Given the description of an element on the screen output the (x, y) to click on. 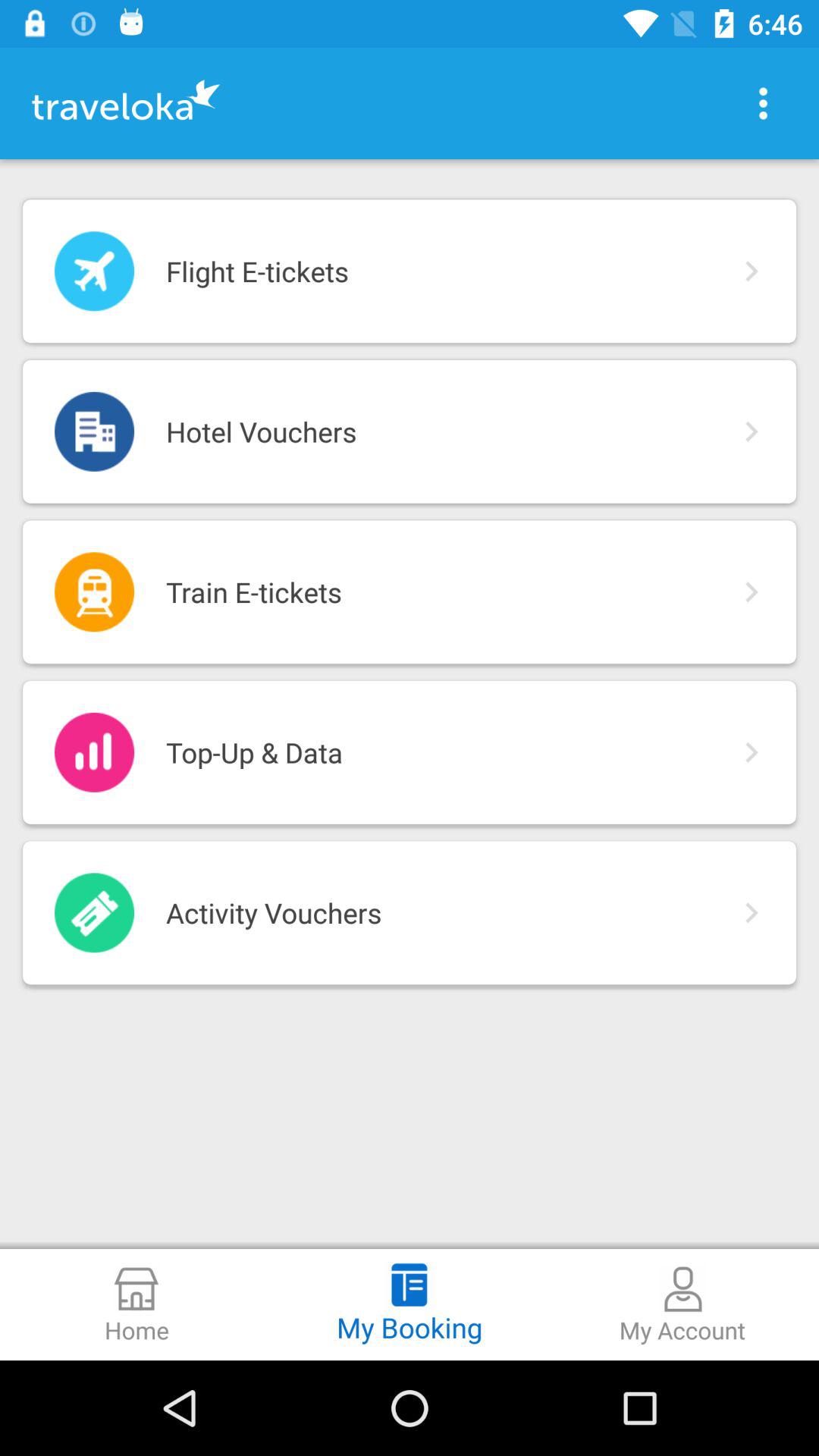
additional options (763, 103)
